Given the description of an element on the screen output the (x, y) to click on. 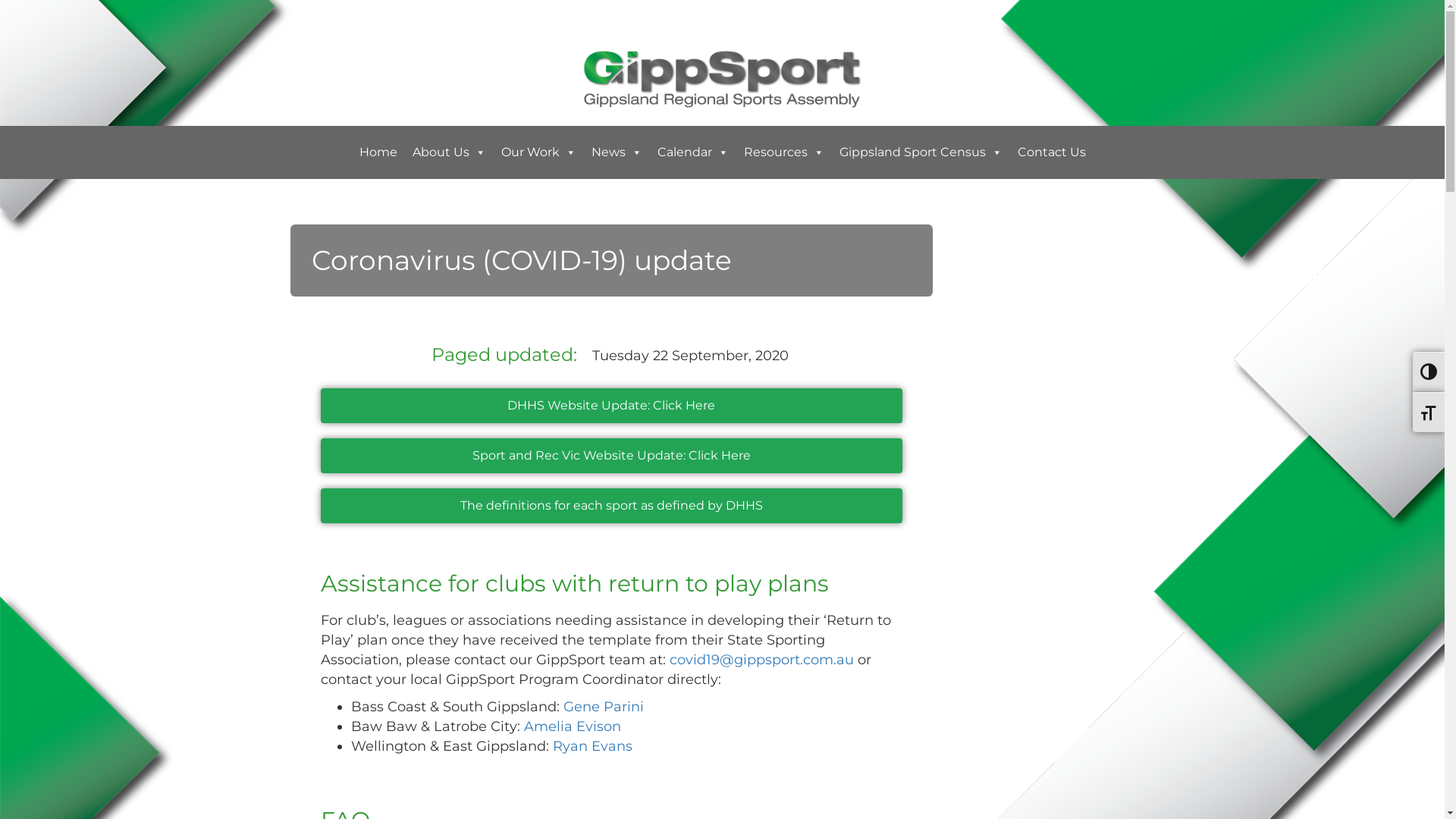
Our Work Element type: text (537, 152)
Home Element type: text (377, 152)
Sport and Rec Vic Website Update: Click Here Element type: text (611, 455)
News Element type: text (616, 152)
Toggle High Contrast Element type: text (1428, 371)
The definitions for each sport as defined by DHHS Element type: text (611, 505)
Ryan Evans Element type: text (591, 745)
Amelia Evison Element type: text (571, 726)
Calendar Element type: text (692, 152)
covid19@gippsport.com.au Element type: text (760, 659)
About Us Element type: text (448, 152)
Gene Parini Element type: text (602, 706)
Gippsland Sport Census Element type: text (920, 152)
Contact Us Element type: text (1051, 152)
Resources Element type: text (783, 152)
Toggle Font size Element type: text (1428, 412)
DHHS Website Update: Click Here Element type: text (611, 405)
